Given the description of an element on the screen output the (x, y) to click on. 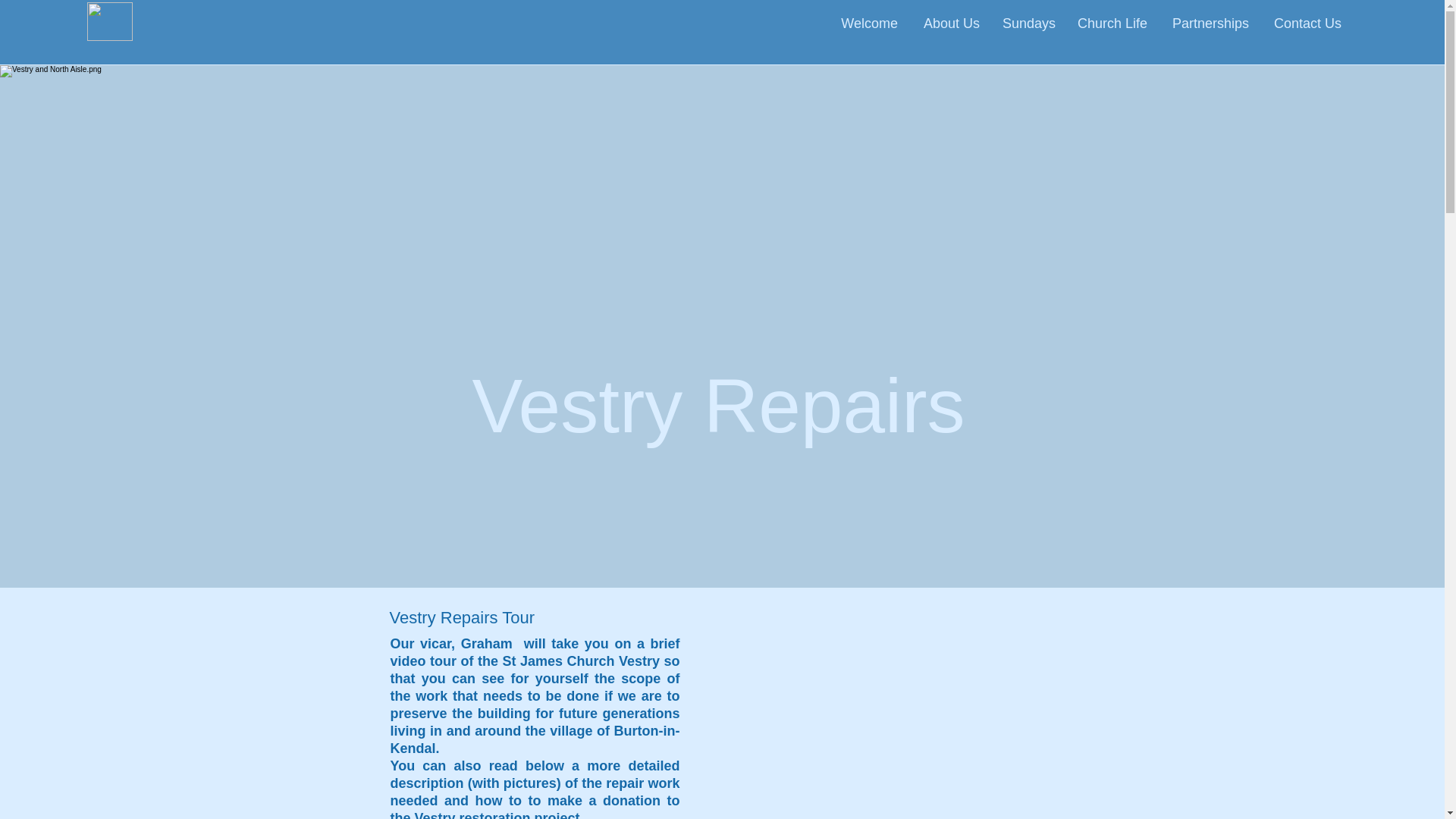
Contact Us (1306, 23)
Partnerships (1209, 23)
About Us (949, 23)
Sundays (1028, 23)
Welcome (867, 23)
